Given the description of an element on the screen output the (x, y) to click on. 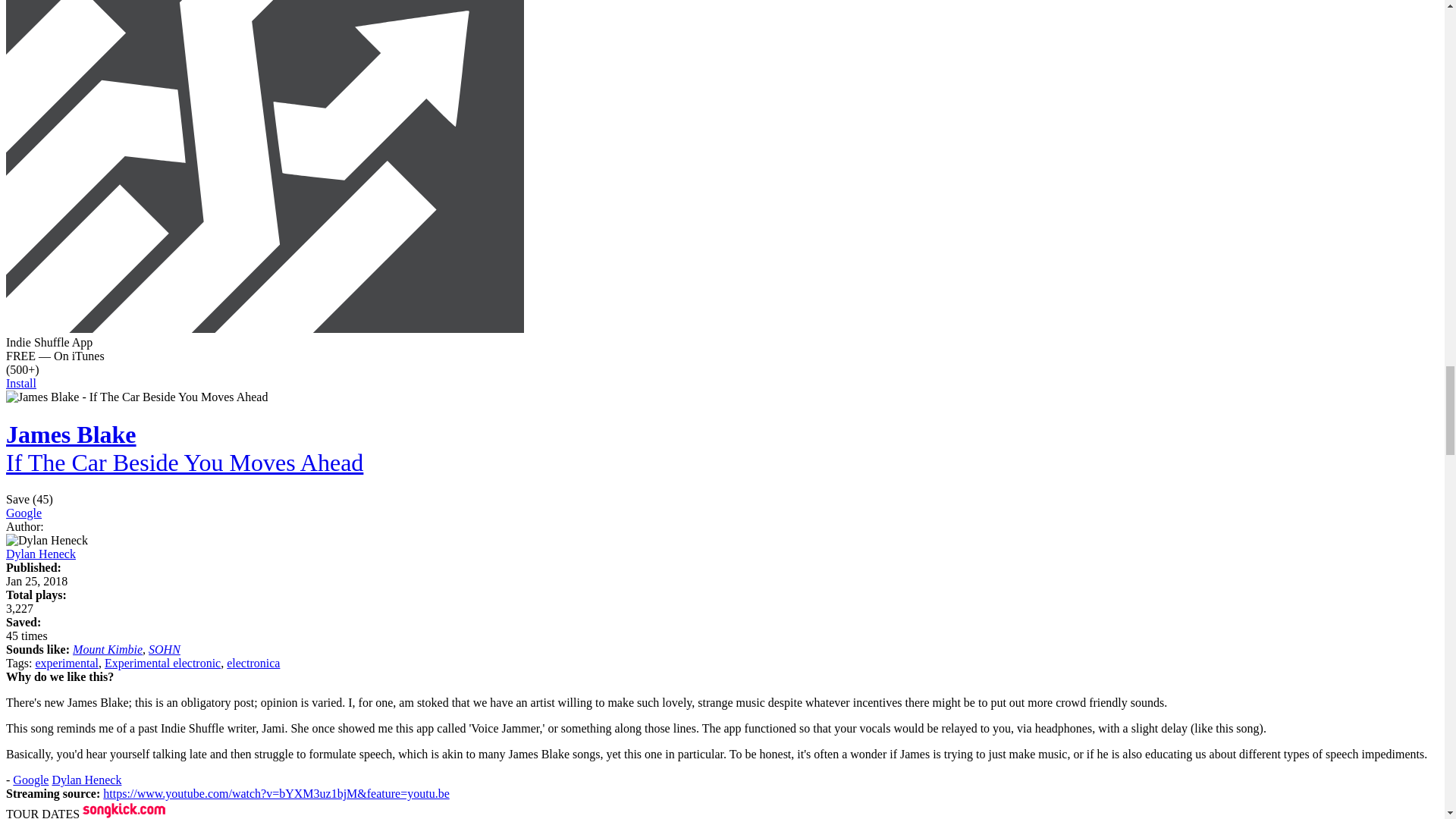
experimental (66, 662)
Experimental electronic (162, 662)
Mount Kimbie (107, 649)
SOHN (164, 649)
electronica (253, 662)
Google (23, 512)
Experimental Songs (66, 662)
Install iPhone App (264, 328)
View chart (19, 608)
Experimental electronic Songs (162, 662)
Google (30, 779)
Dylan Heneck (85, 779)
